Given the description of an element on the screen output the (x, y) to click on. 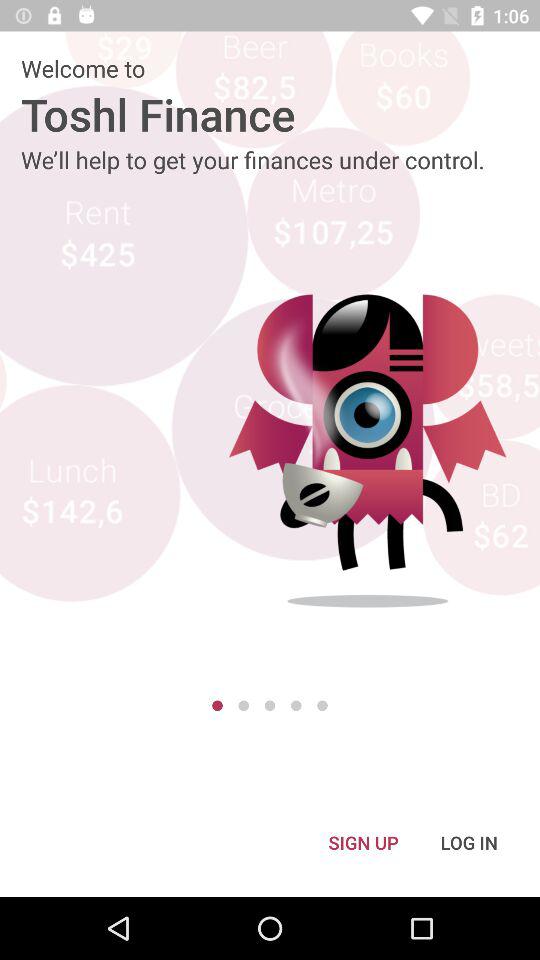
select the icon to the right of sign up (469, 842)
